Given the description of an element on the screen output the (x, y) to click on. 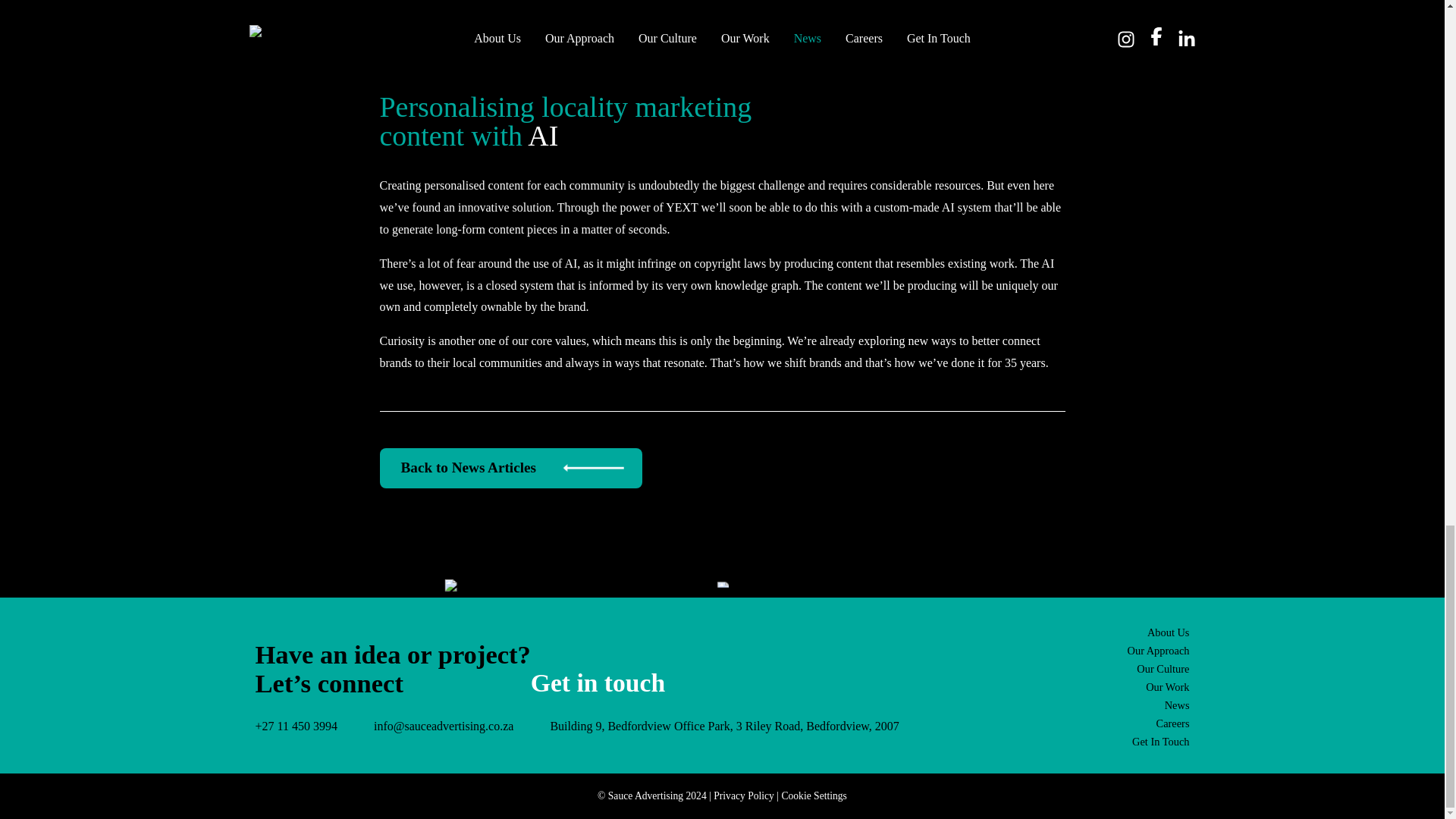
Get In Touch (1160, 741)
Privacy Policy (743, 795)
Our Approach (1157, 650)
Careers (1172, 723)
Our Work (1167, 686)
Cookie Settings (812, 795)
News (1176, 705)
About Us (1168, 632)
Get in touch (598, 682)
Back to News Articles (510, 467)
Our Culture (1163, 668)
